Given the description of an element on the screen output the (x, y) to click on. 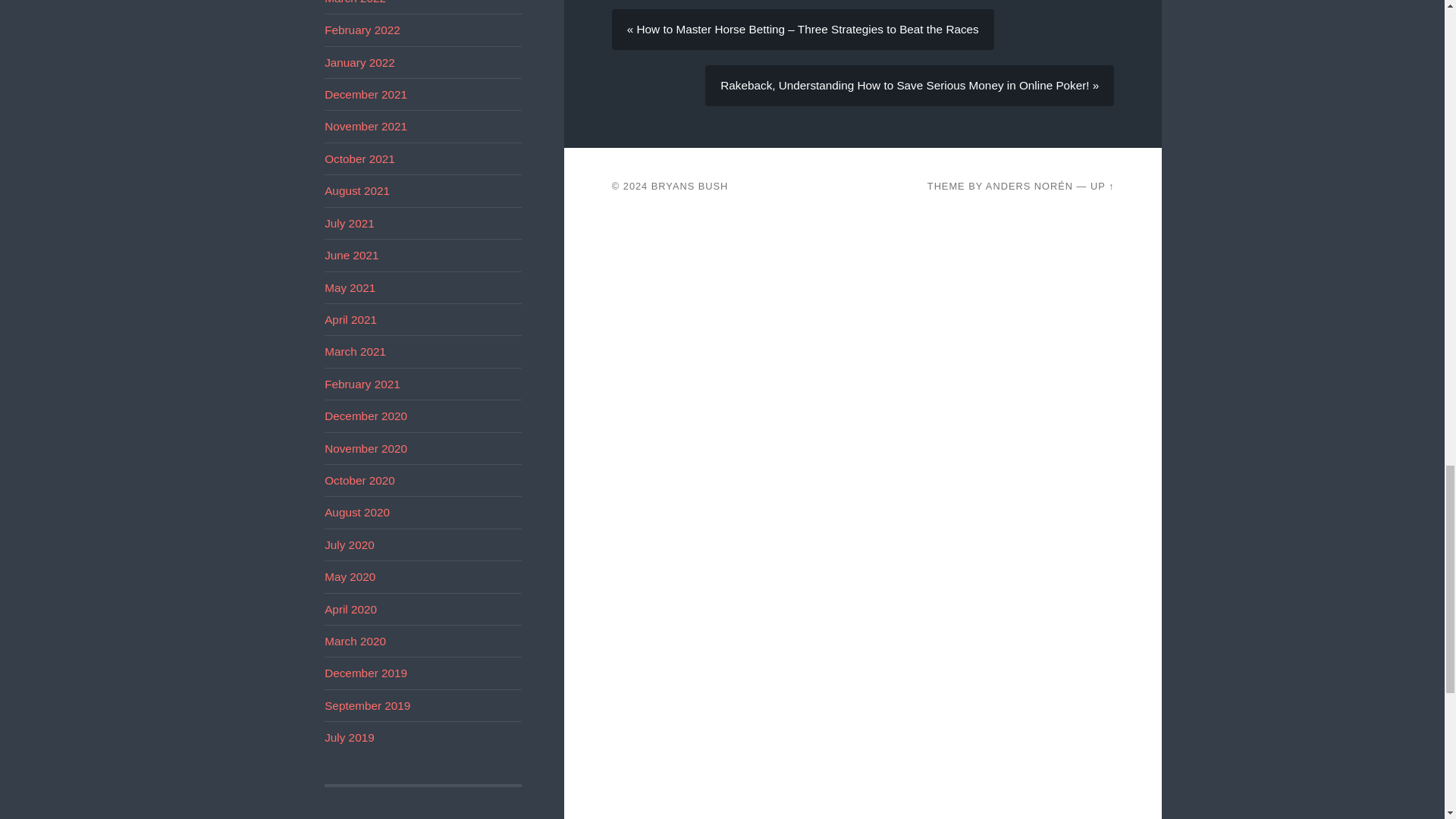
August 2021 (357, 190)
February 2022 (362, 29)
November 2021 (365, 125)
March 2022 (354, 2)
October 2021 (359, 158)
January 2022 (359, 62)
December 2021 (365, 93)
